Given the description of an element on the screen output the (x, y) to click on. 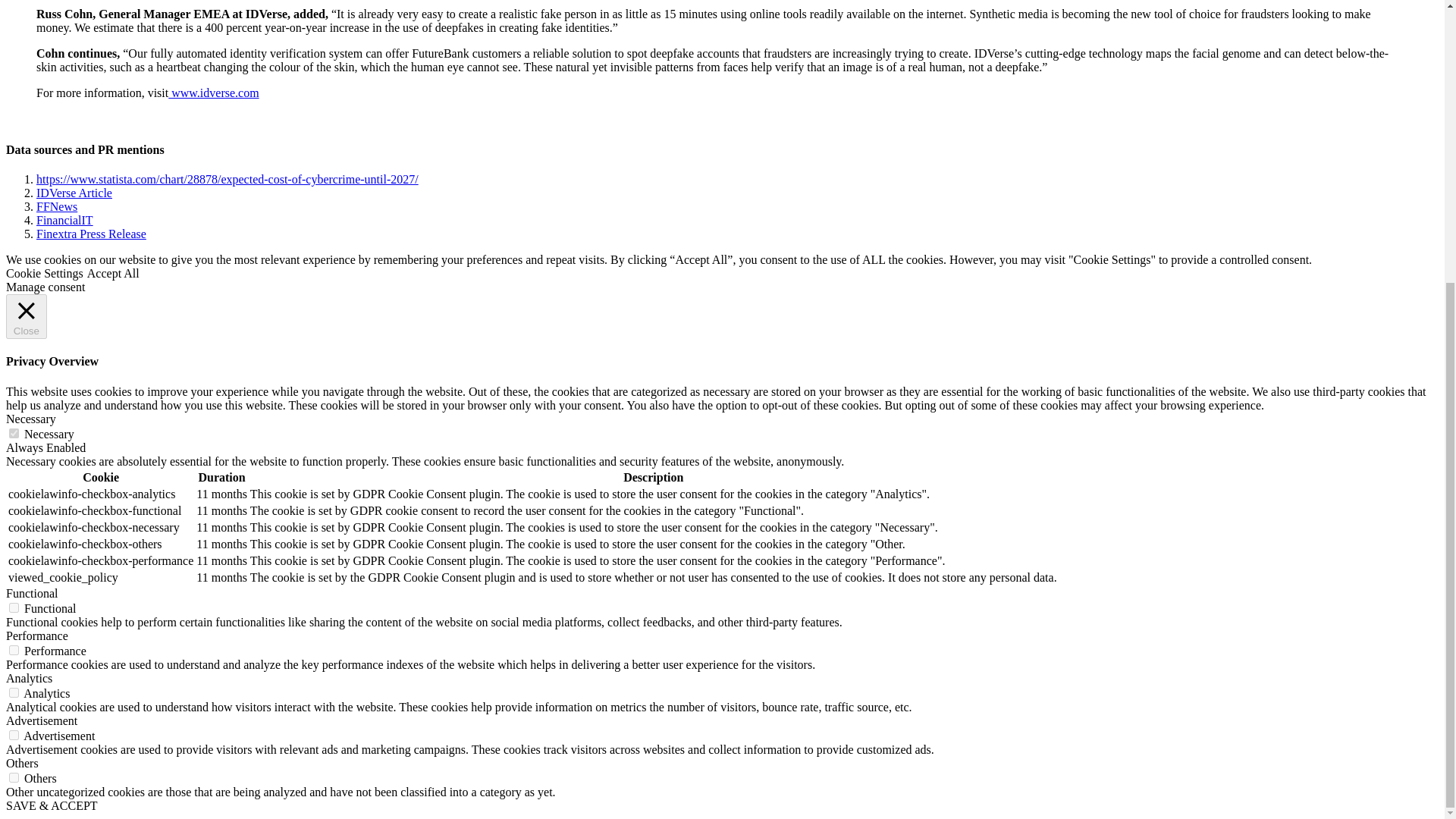
FinancialIT (64, 219)
Necessary (30, 418)
on (13, 607)
Advertisement (41, 720)
Performance (36, 635)
on (13, 650)
Close (25, 316)
Finextra Press Release (91, 233)
on (13, 735)
Cookie Settings (43, 273)
